Given the description of an element on the screen output the (x, y) to click on. 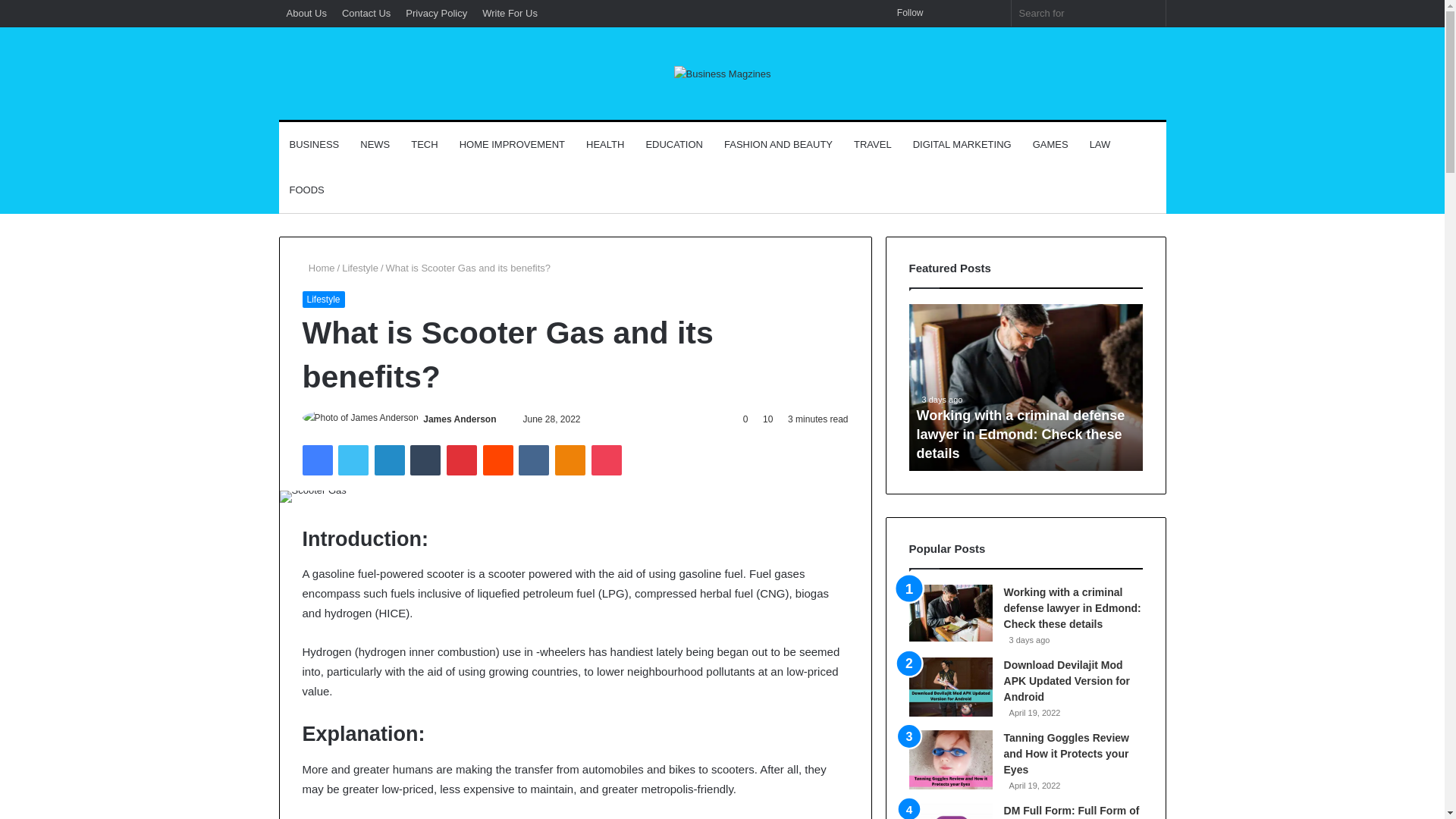
EDUCATION (673, 144)
HOME IMPROVEMENT (511, 144)
James Anderson (459, 419)
Search for (1149, 13)
Follow (905, 13)
Facebook (316, 460)
NEWS (374, 144)
Business Magzines (721, 73)
Lifestyle (322, 299)
Pinterest (461, 460)
